Given the description of an element on the screen output the (x, y) to click on. 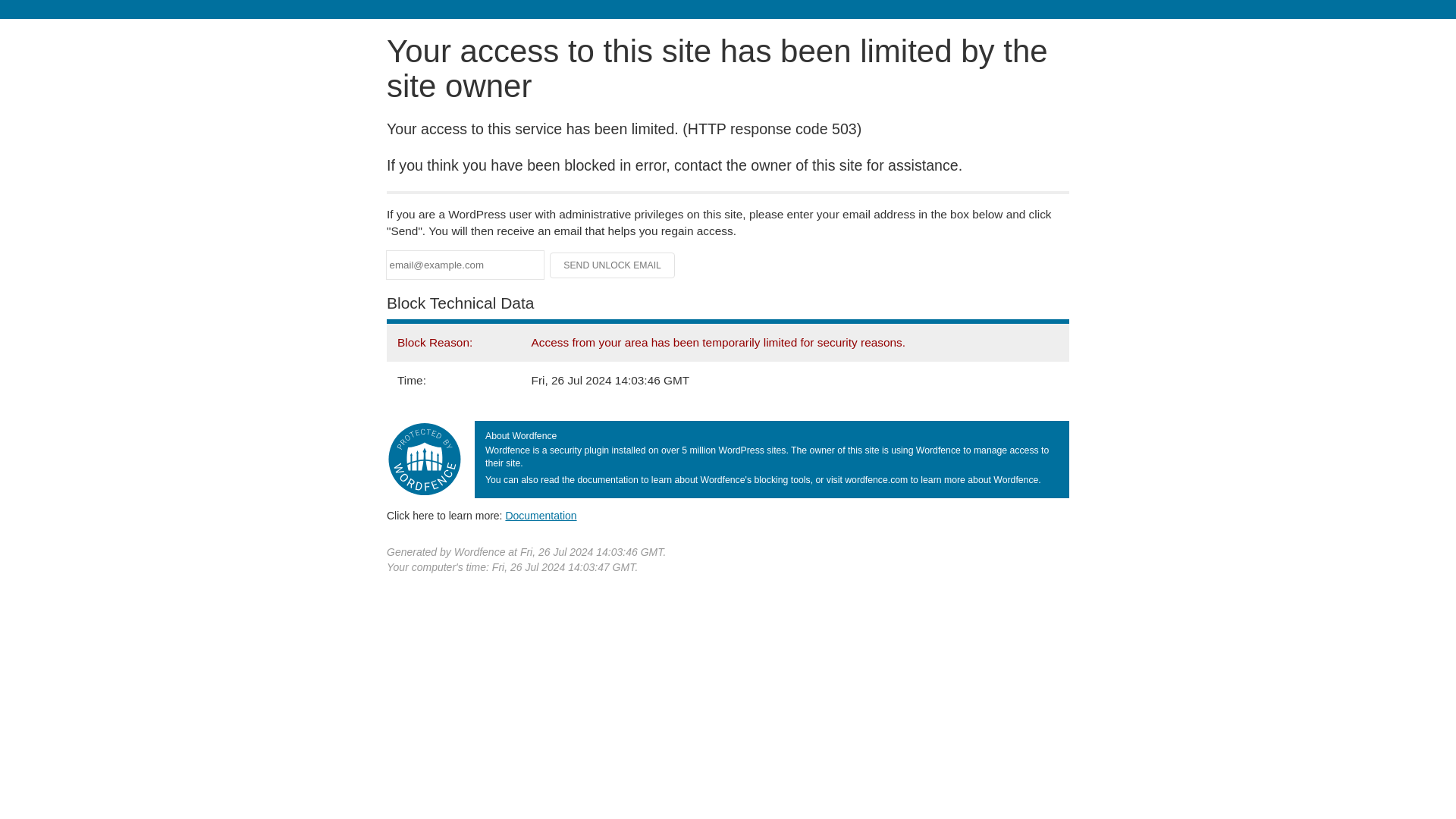
Documentation (540, 515)
Send Unlock Email (612, 265)
Send Unlock Email (612, 265)
